Given the description of an element on the screen output the (x, y) to click on. 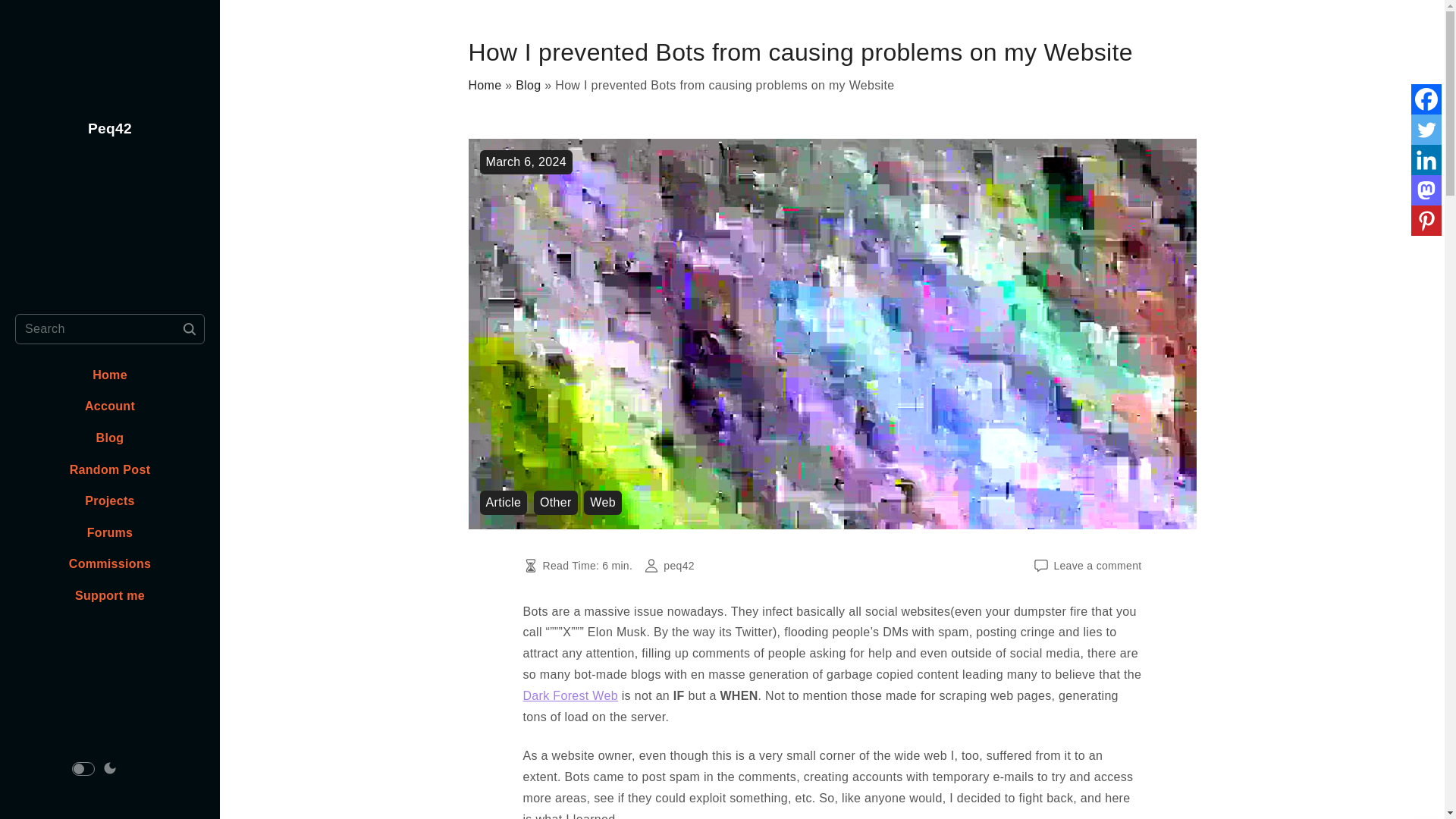
Search (189, 328)
Facebook (1425, 99)
Dark Forest Web (569, 695)
Blog (109, 438)
Commissions (109, 564)
peq42 (678, 565)
Forums (110, 533)
Random Post (110, 469)
Pinterest (1425, 220)
Account (109, 406)
Twitter (1425, 129)
Home (485, 84)
Web (602, 502)
Blog (527, 84)
Posts by peq42 (678, 565)
